Given the description of an element on the screen output the (x, y) to click on. 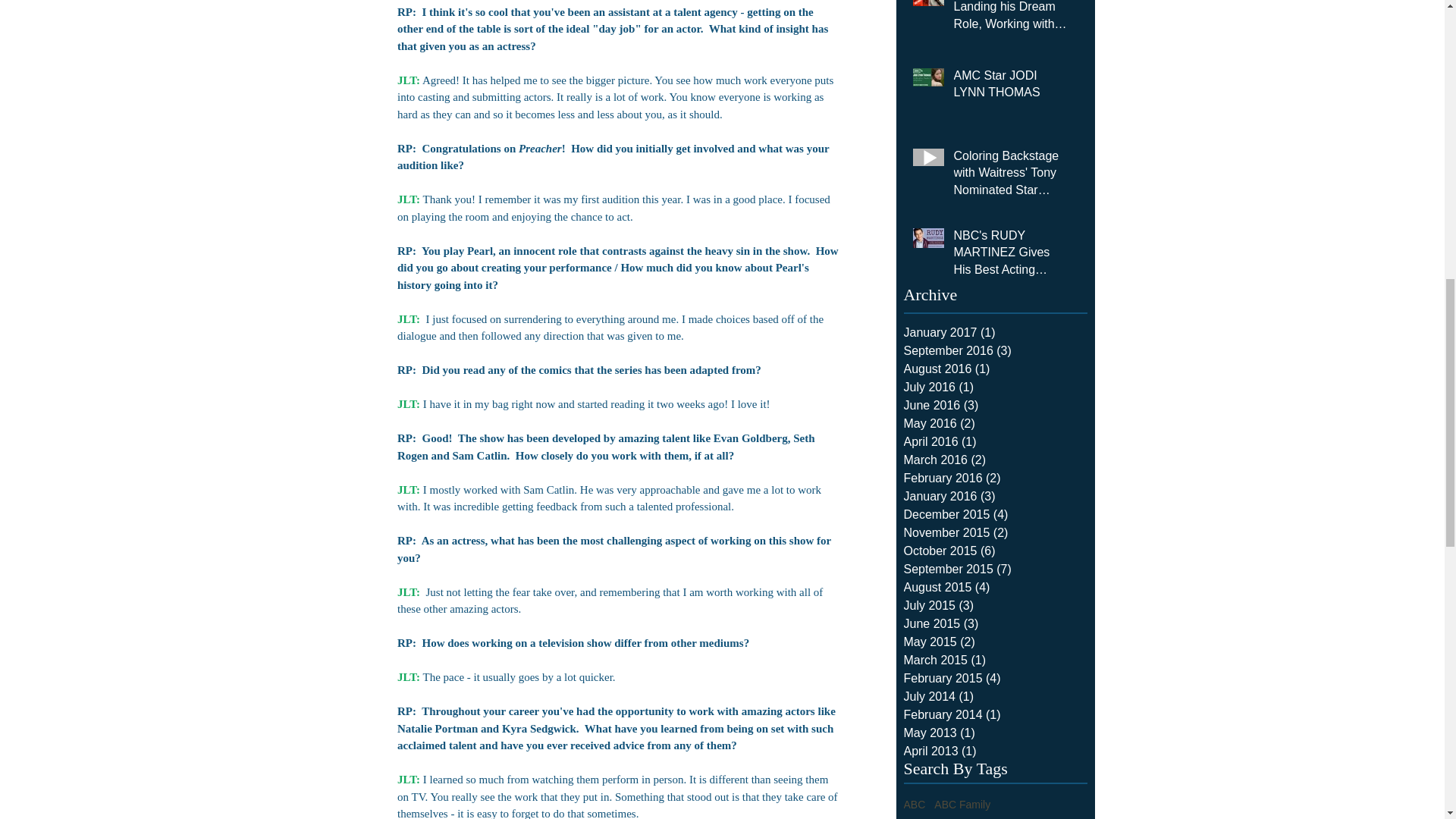
AMC Star JODI LYNN THOMAS (1010, 87)
NBC's RUDY MARTINEZ Gives His Best Acting Advice. (1010, 255)
